Given the description of an element on the screen output the (x, y) to click on. 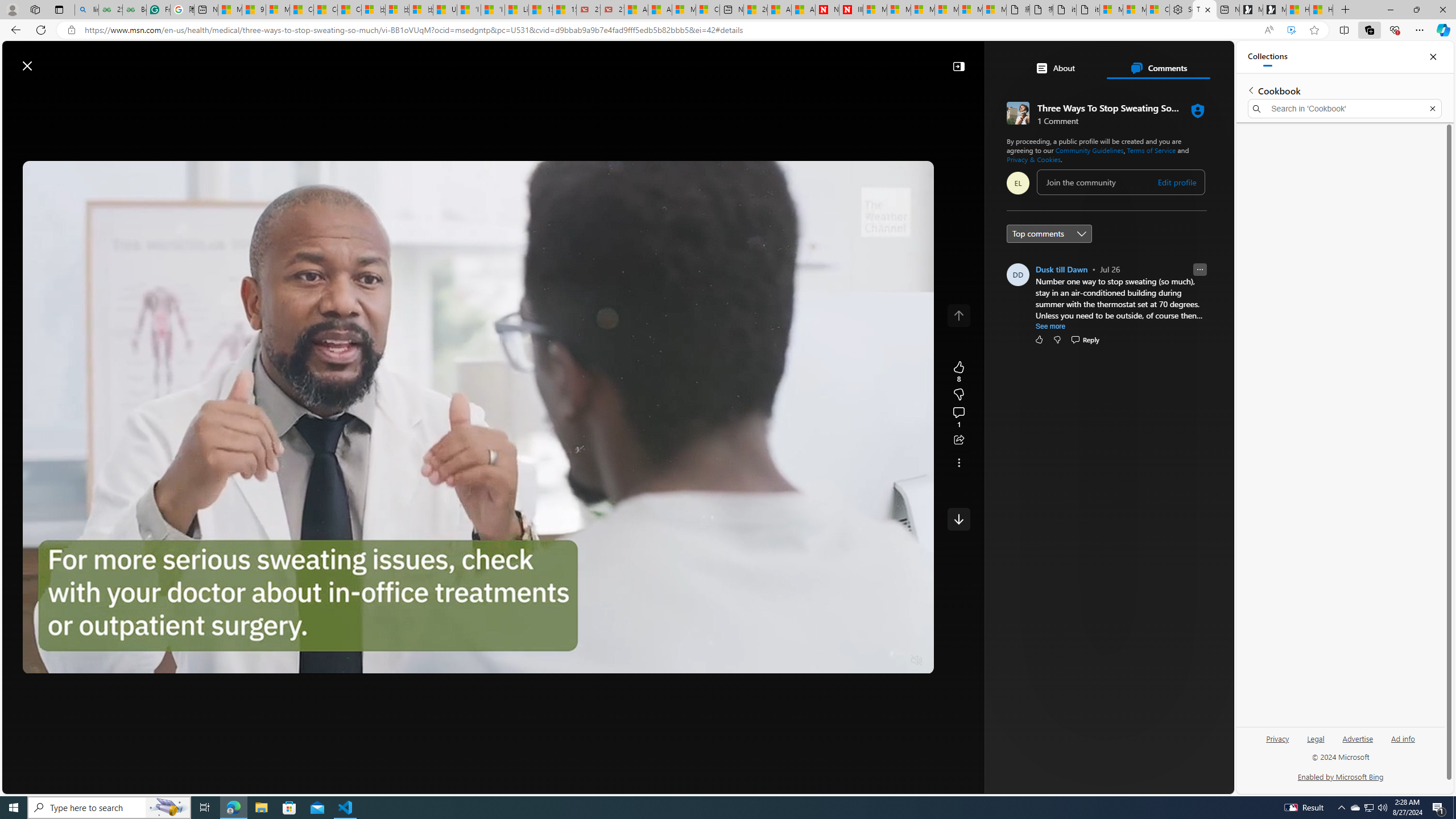
Captions (871, 660)
Progress Bar (478, 646)
AutomationID: e5rZOEMGacU1 (958, 518)
Lifestyle - MSN (515, 9)
ABC News (1060, 415)
Share this story (958, 440)
How to Use a TV as a Computer Monitor (1321, 9)
